Given the description of an element on the screen output the (x, y) to click on. 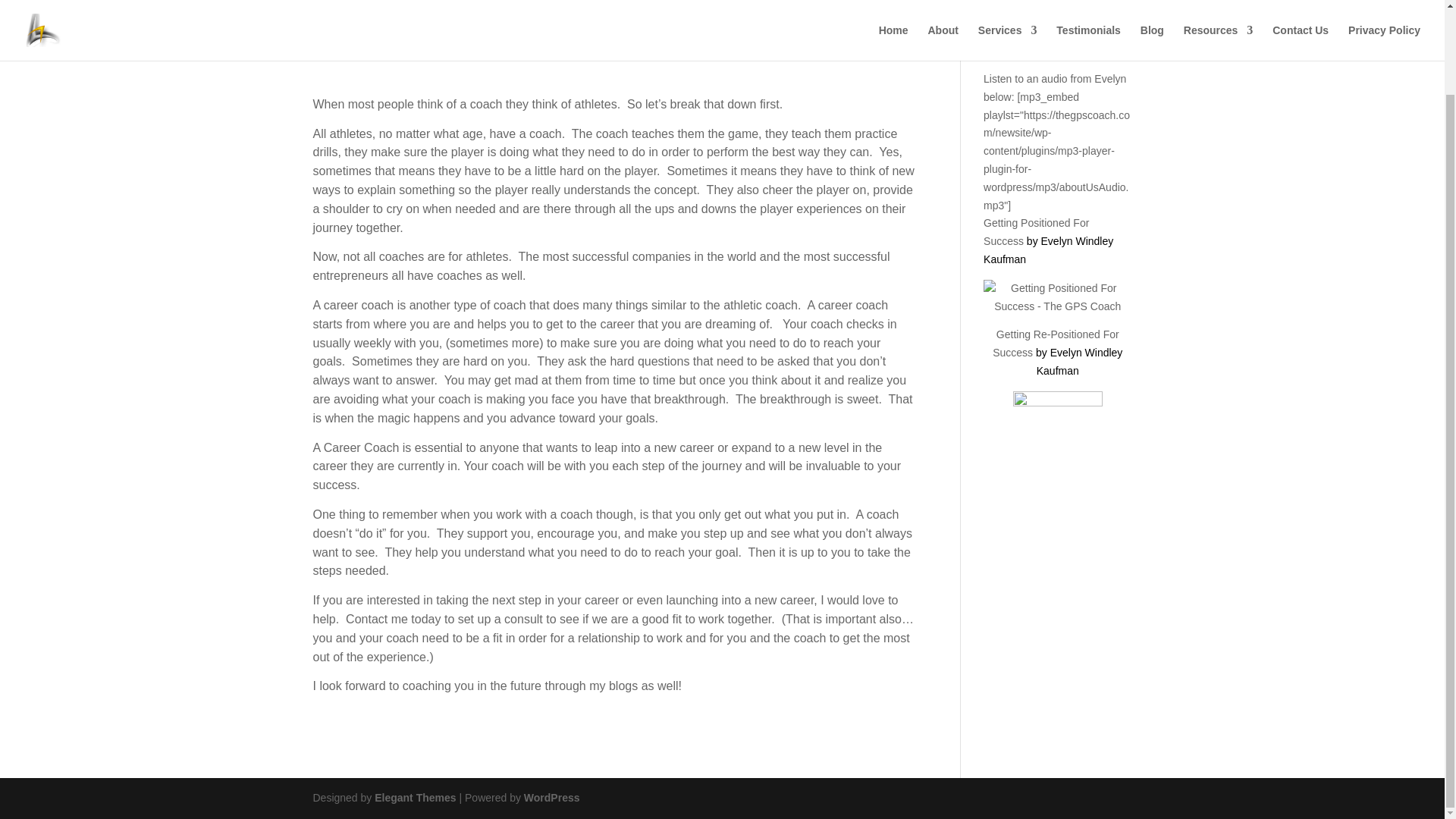
Premium WordPress Themes (414, 797)
Uncategorized (513, 46)
Getting Positioned For Success (1036, 232)
Elegant Themes (414, 797)
Getting Re-Positioned For Success (1055, 343)
WordPress (551, 797)
0 comments (583, 46)
Posts by Evelyn Kaufman (365, 46)
Evelyn Kaufman (365, 46)
